Given the description of an element on the screen output the (x, y) to click on. 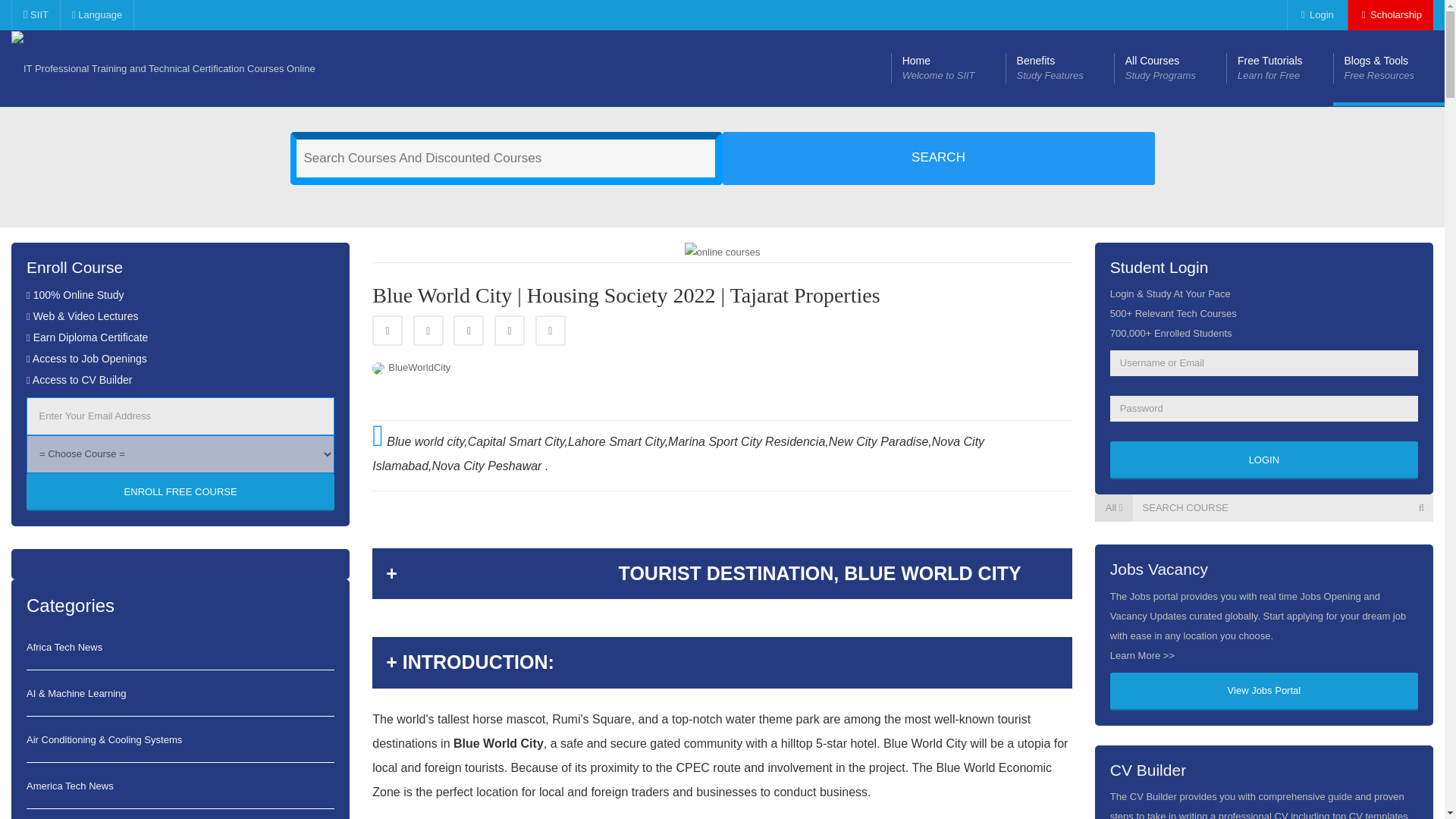
 LOGIN  (1059, 68)
Portal Login (1263, 460)
Email this (1279, 68)
ENROLL FREE COURSE (1315, 15)
SIIT - Scholars International Institute Of Technology (550, 330)
2024 IT Scholarship (180, 492)
Language (163, 67)
